Given the description of an element on the screen output the (x, y) to click on. 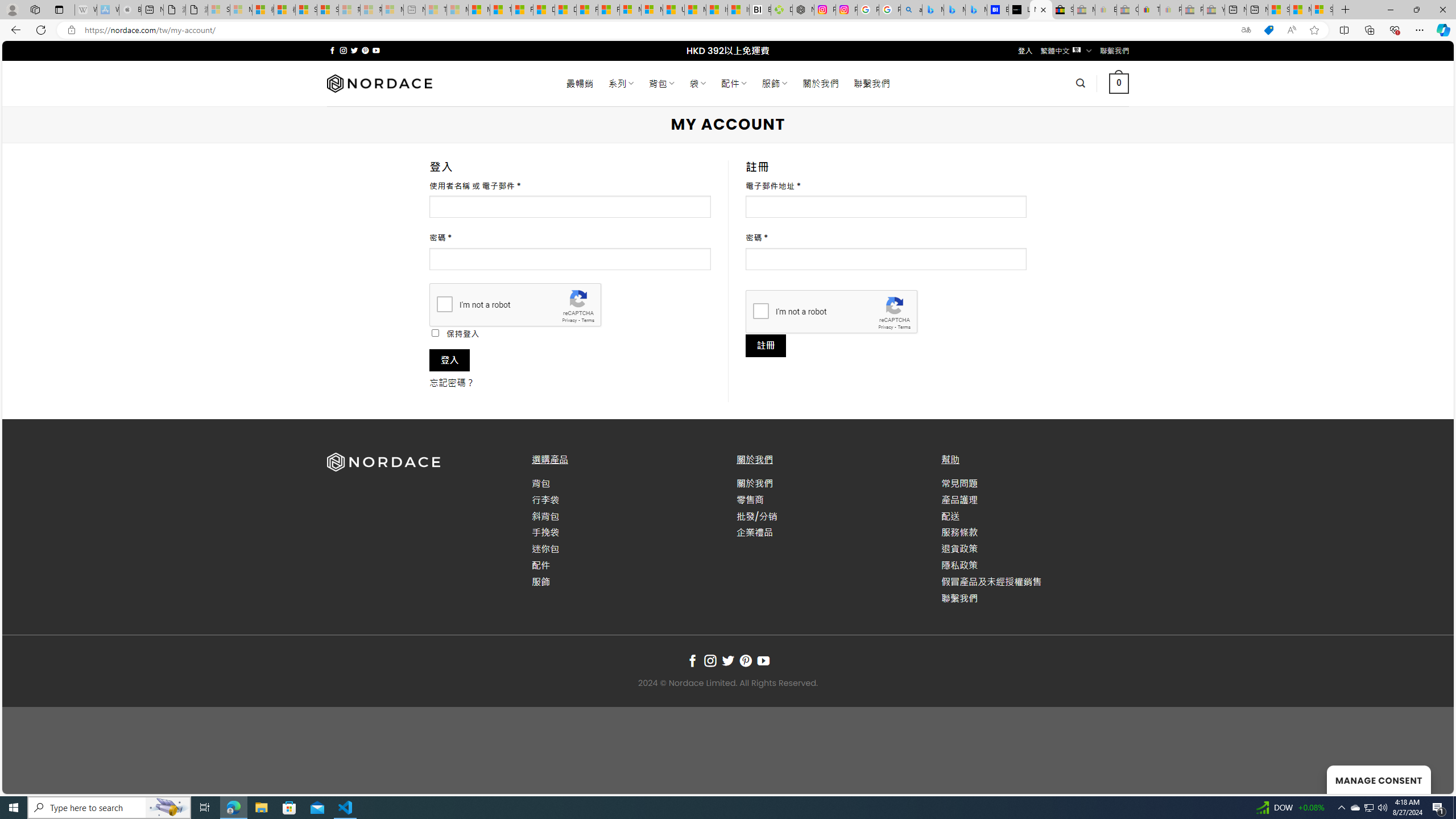
Follow on Instagram (710, 660)
Marine life - MSN - Sleeping (457, 9)
Follow on Twitter (727, 660)
